Given the description of an element on the screen output the (x, y) to click on. 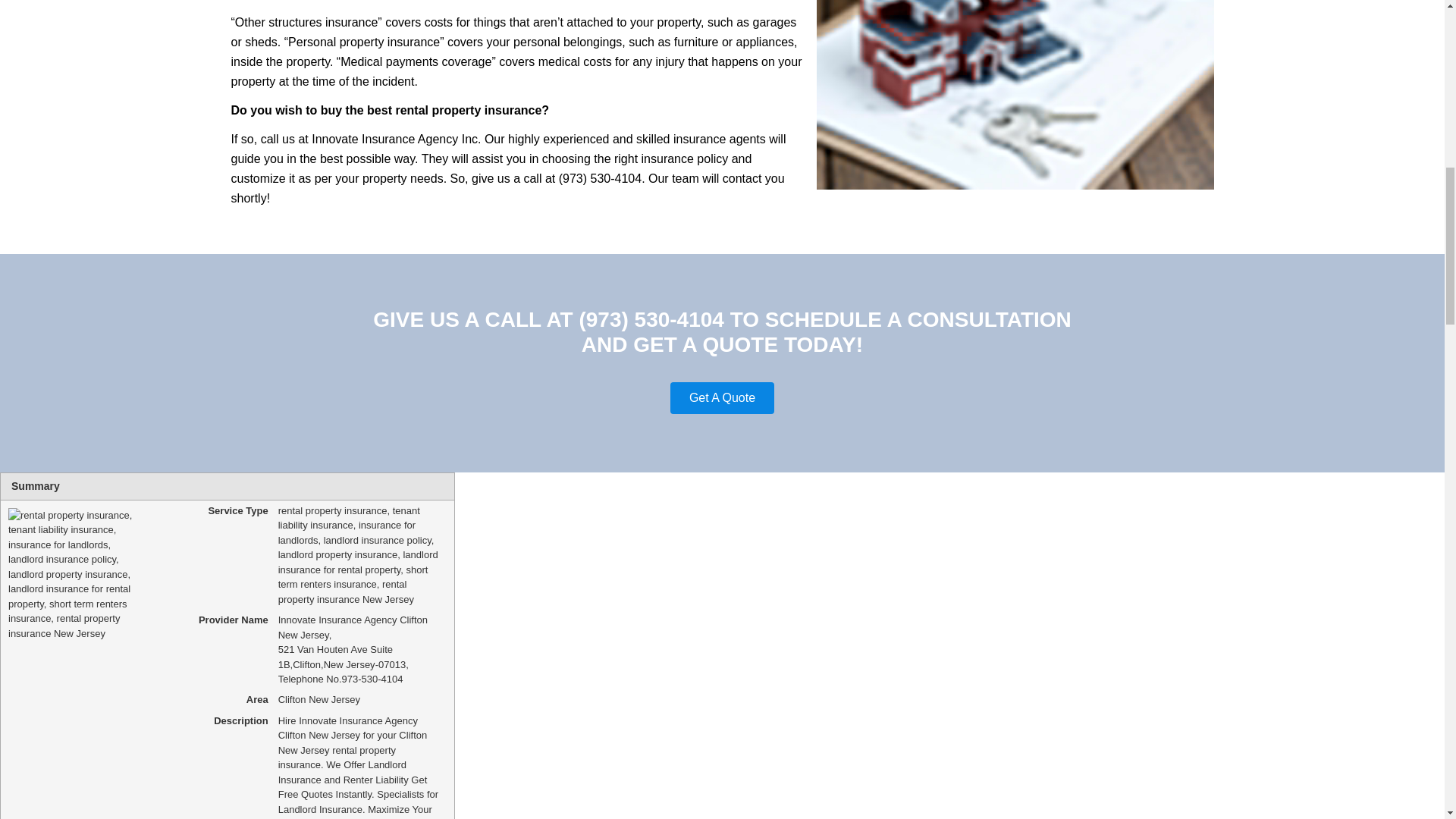
Get A Quote (721, 398)
